Given the description of an element on the screen output the (x, y) to click on. 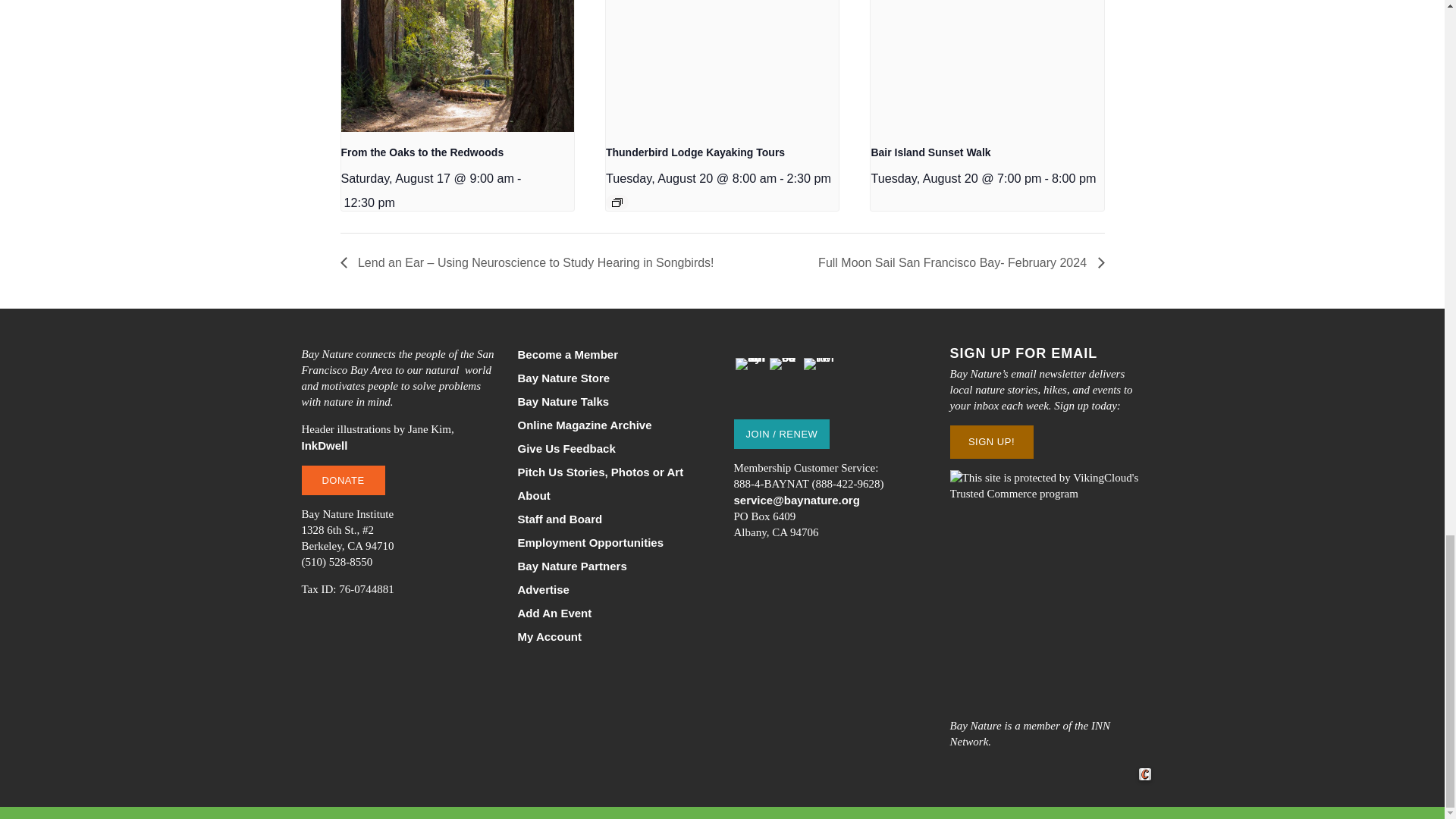
Twitter (818, 372)
Facebook (784, 372)
Follow by Email (750, 372)
Event Series (617, 202)
